Given the description of an element on the screen output the (x, y) to click on. 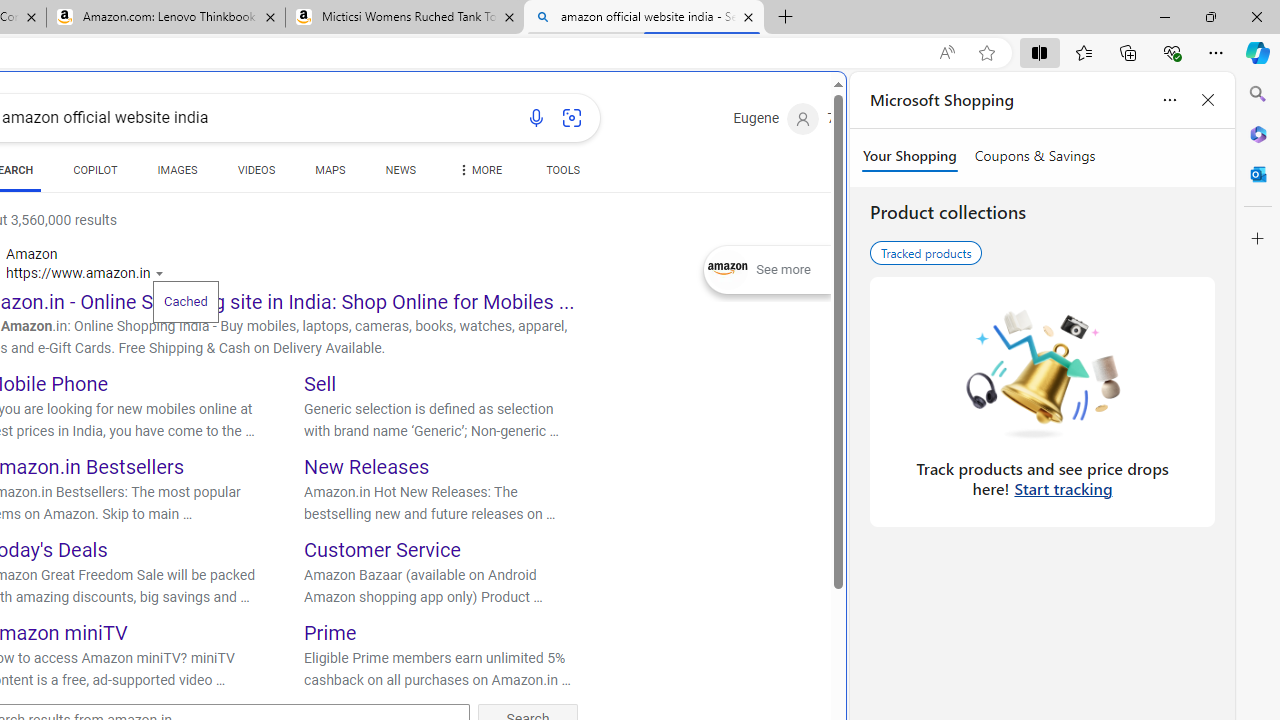
Expand (727, 269)
Eugene (776, 119)
Prime (330, 632)
Customer Service (382, 549)
MORE (478, 173)
